Given the description of an element on the screen output the (x, y) to click on. 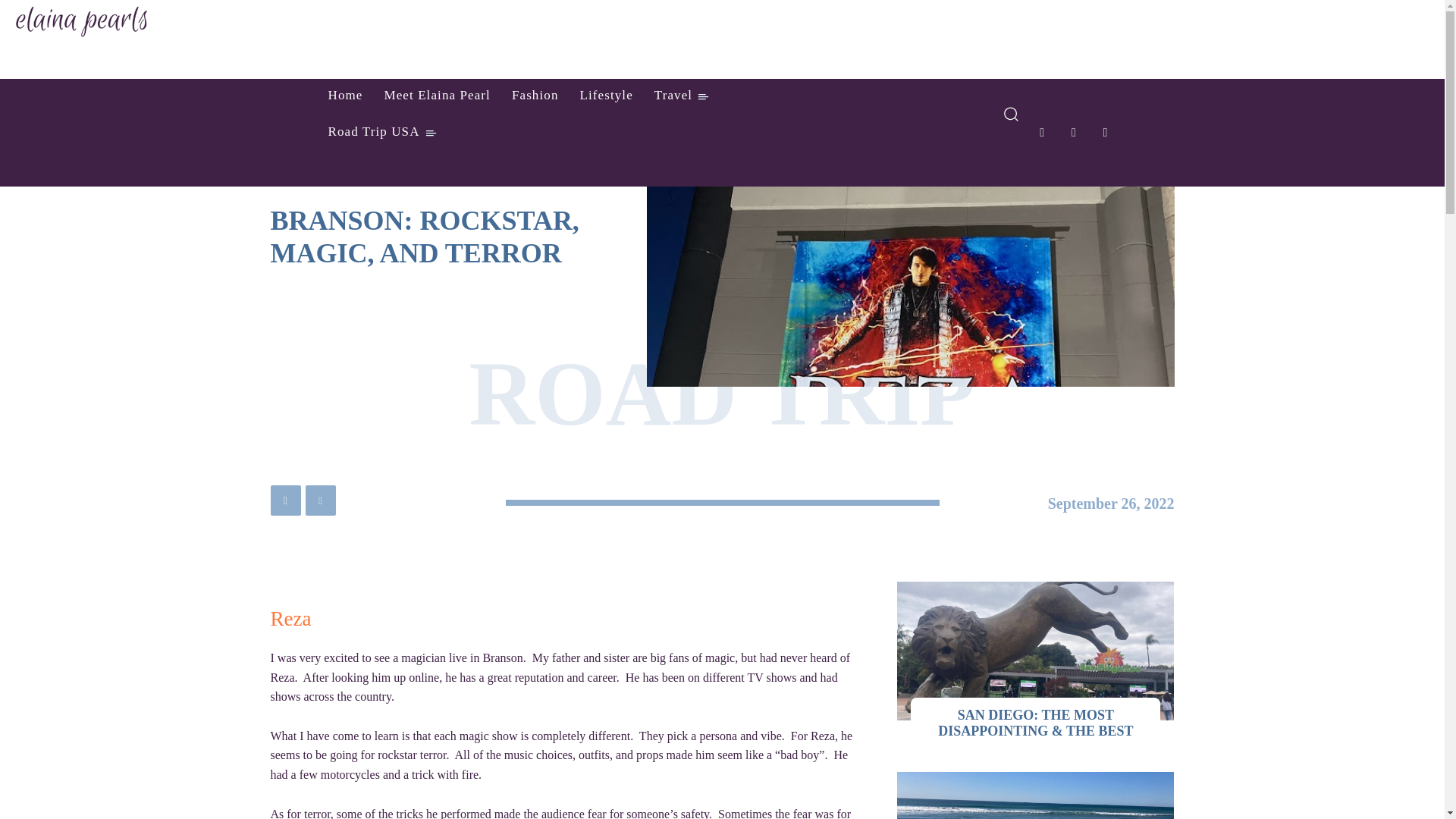
Fashion (534, 94)
Facebook (1105, 132)
Reza (290, 618)
Lifestyle (606, 94)
Home (344, 94)
Pinterest (319, 500)
TikTok (1073, 132)
Road Trip USA (381, 131)
Travel (681, 94)
Meet Elaina Pearl (436, 94)
Facebook (284, 500)
Instagram (1042, 132)
